Given the description of an element on the screen output the (x, y) to click on. 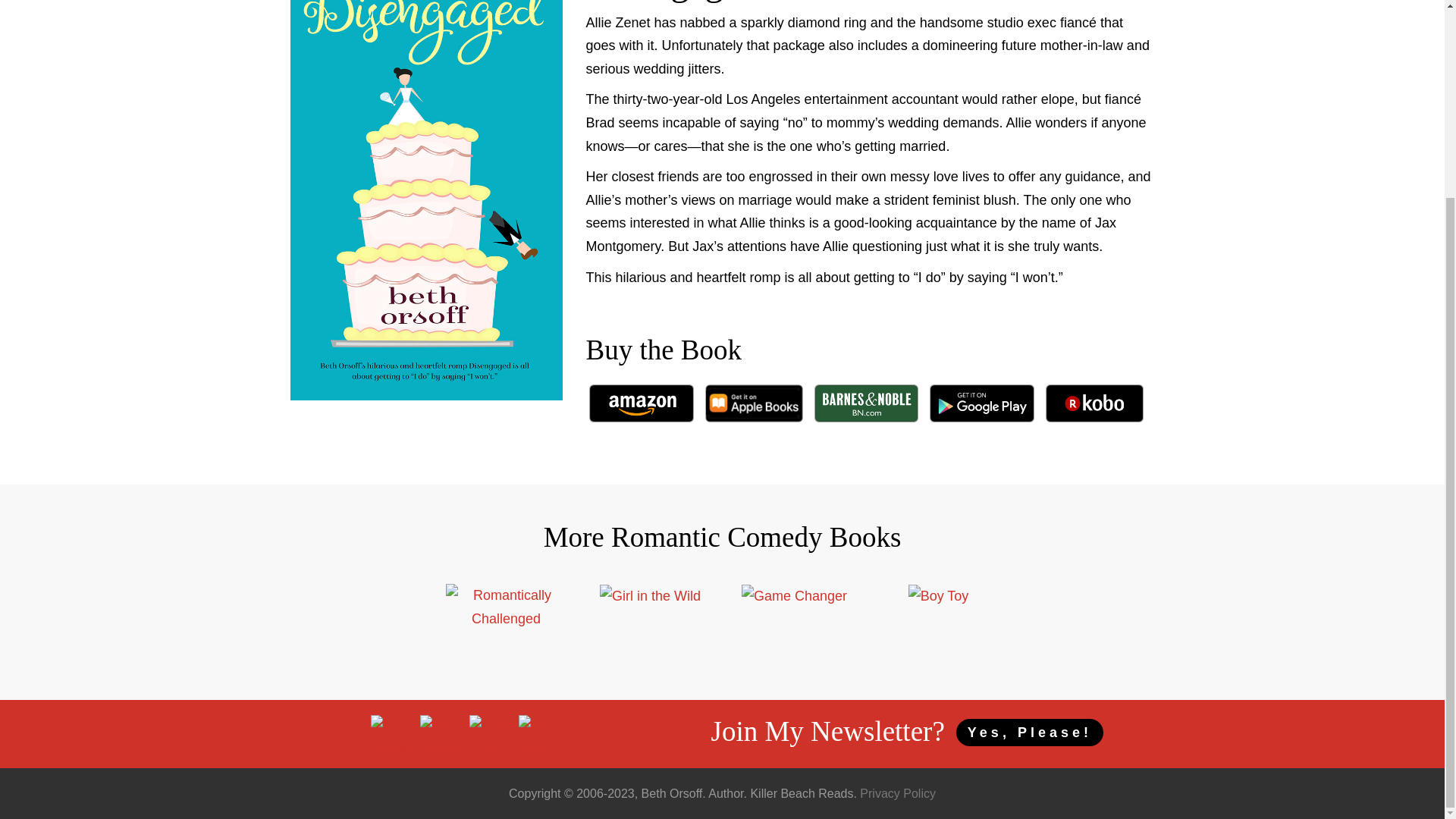
Game Changer (794, 596)
Yes, Please! (1029, 732)
Privacy Policy (898, 793)
googleplay (981, 403)
Boy Toy (938, 596)
